Given the description of an element on the screen output the (x, y) to click on. 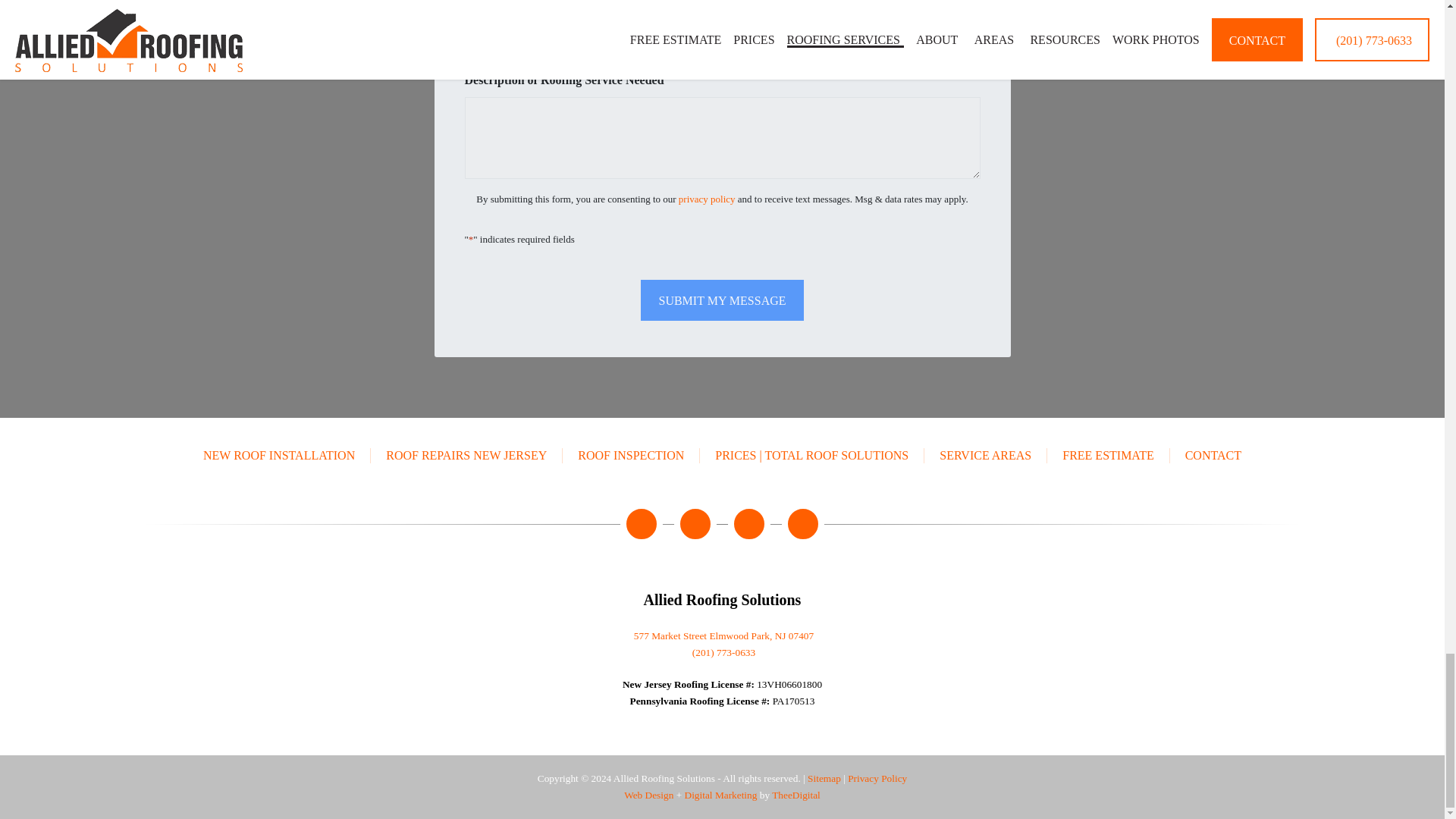
Digital Marketing Agency (720, 794)
Submit Form (721, 300)
Best SEO Agency (796, 794)
Web Design Services (648, 794)
